Given the description of an element on the screen output the (x, y) to click on. 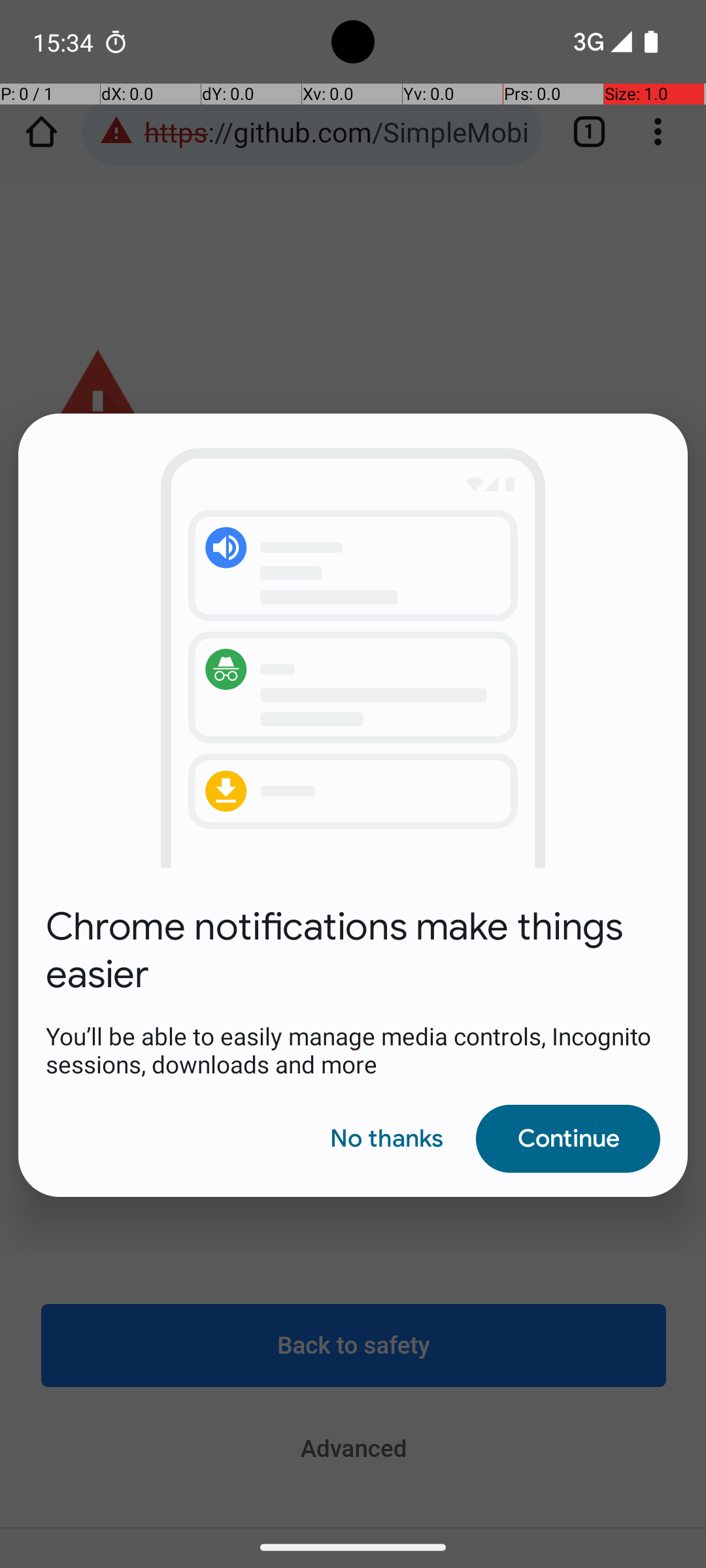
Chrome notifications make things easier Element type: android.widget.TextView (352, 950)
You’ll be able to easily manage media controls, Incognito sessions, downloads and more Element type: android.widget.TextView (352, 1049)
Continue Element type: android.widget.Button (567, 1138)
